Given the description of an element on the screen output the (x, y) to click on. 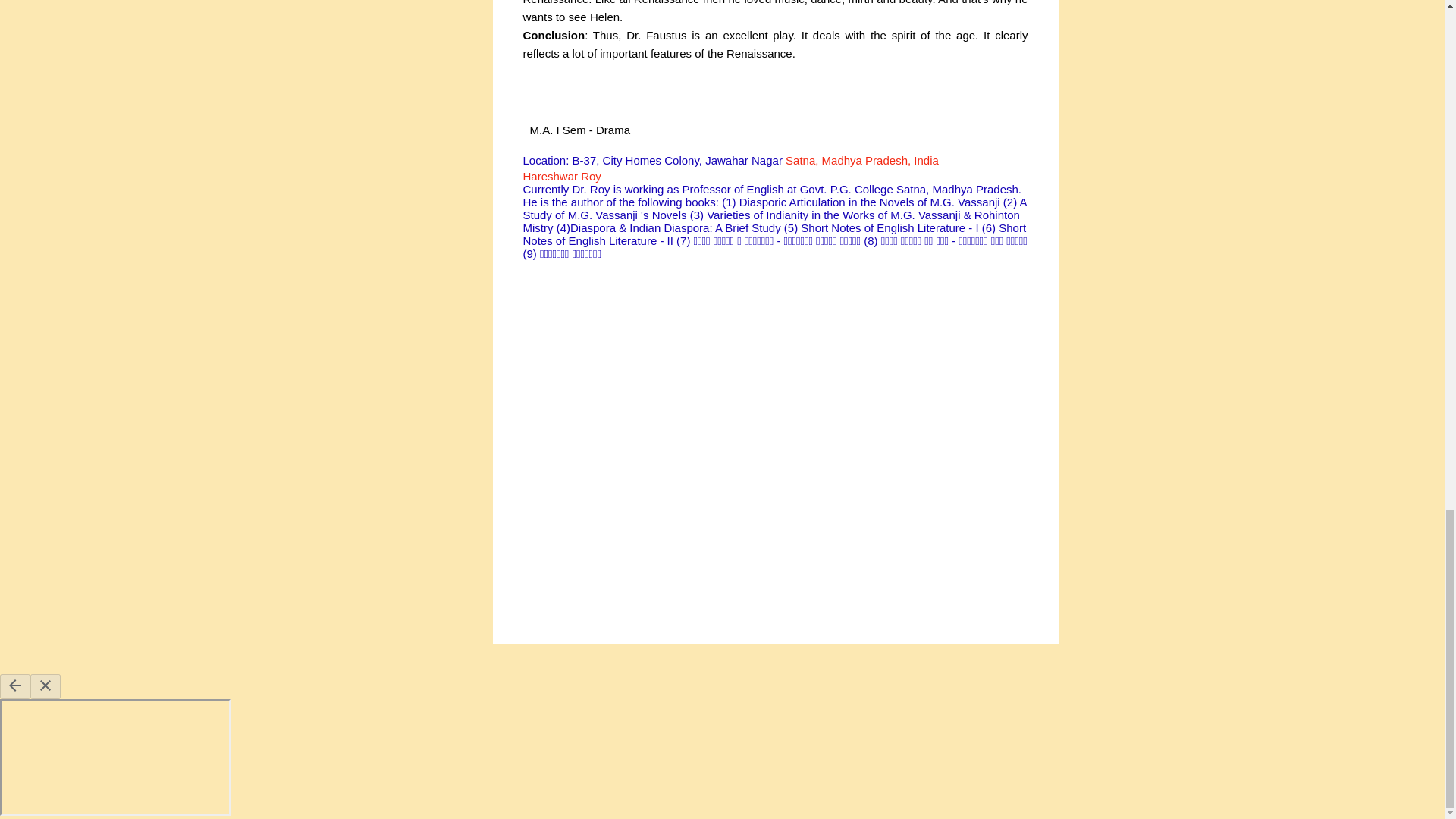
M.A. I Sem - Drama (579, 129)
Hareshwar Roy (561, 175)
Satna, Madhya Pradesh, India (862, 159)
